Given the description of an element on the screen output the (x, y) to click on. 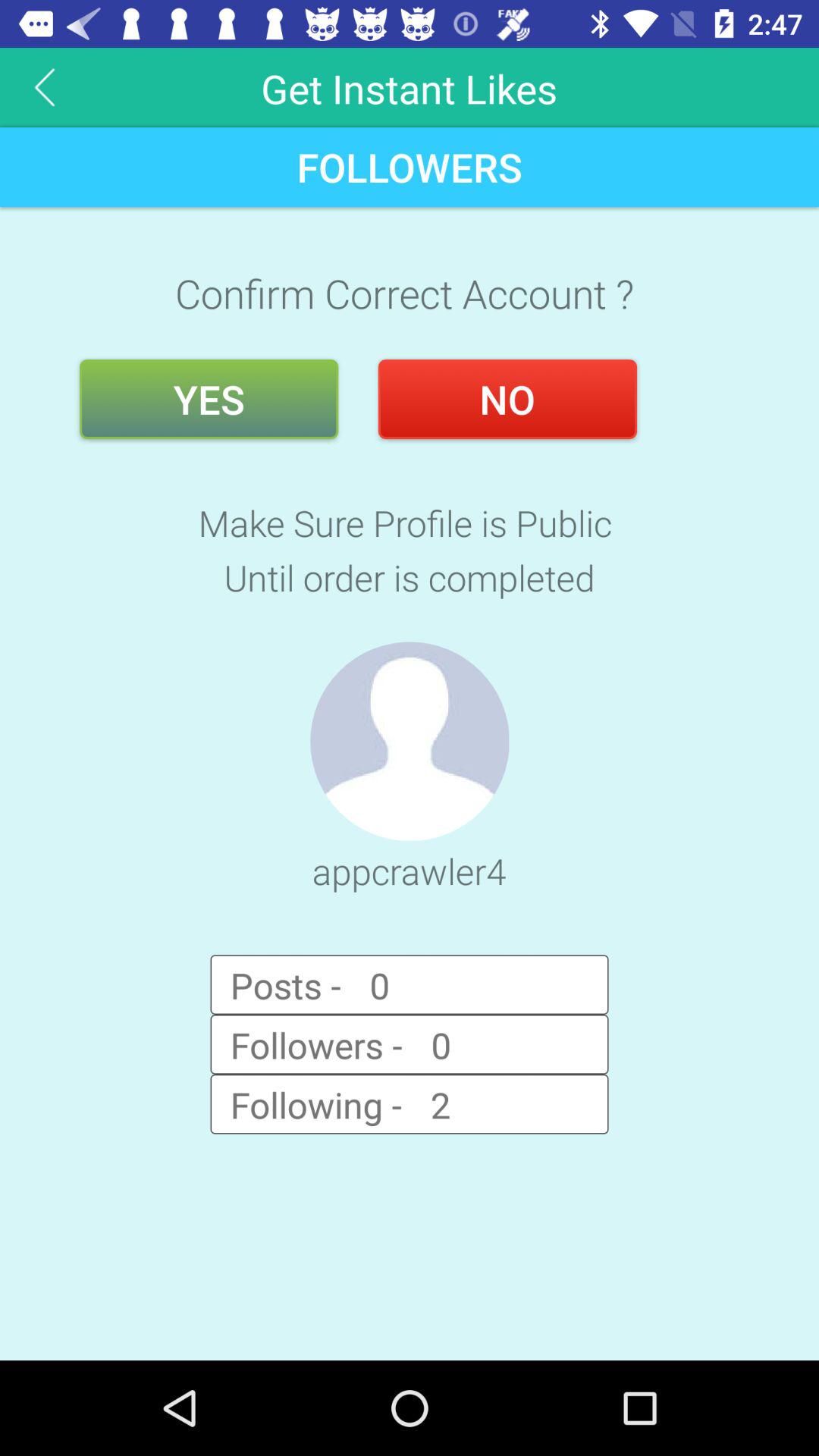
turn off the icon below confirm correct account ?  icon (208, 399)
